Given the description of an element on the screen output the (x, y) to click on. 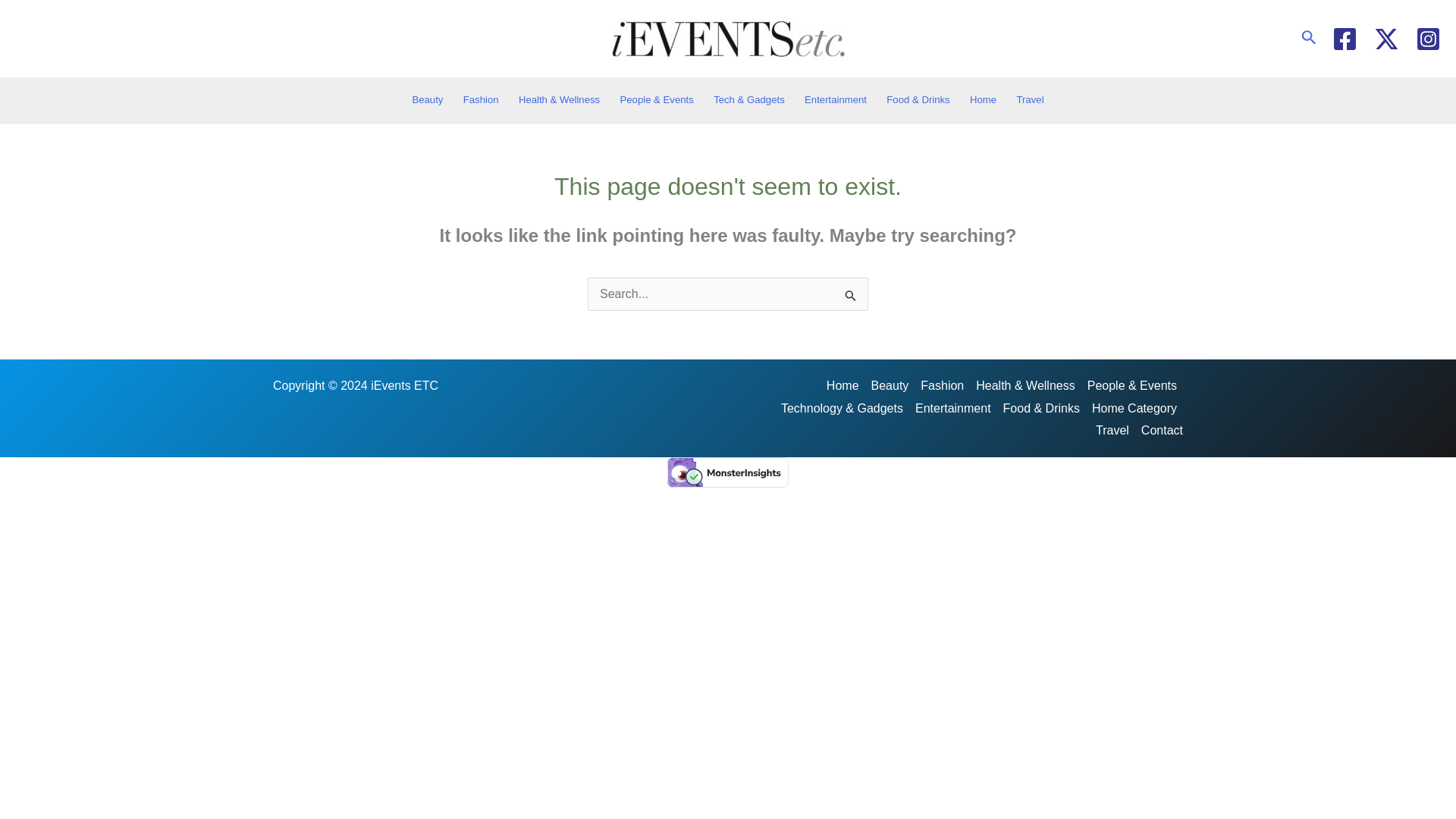
Home (982, 99)
Search (850, 296)
Beauty (426, 99)
Search (850, 296)
Search (850, 296)
Travel (1029, 99)
Fashion (480, 99)
Beauty (889, 385)
Entertainment (835, 99)
Home (845, 385)
